Given the description of an element on the screen output the (x, y) to click on. 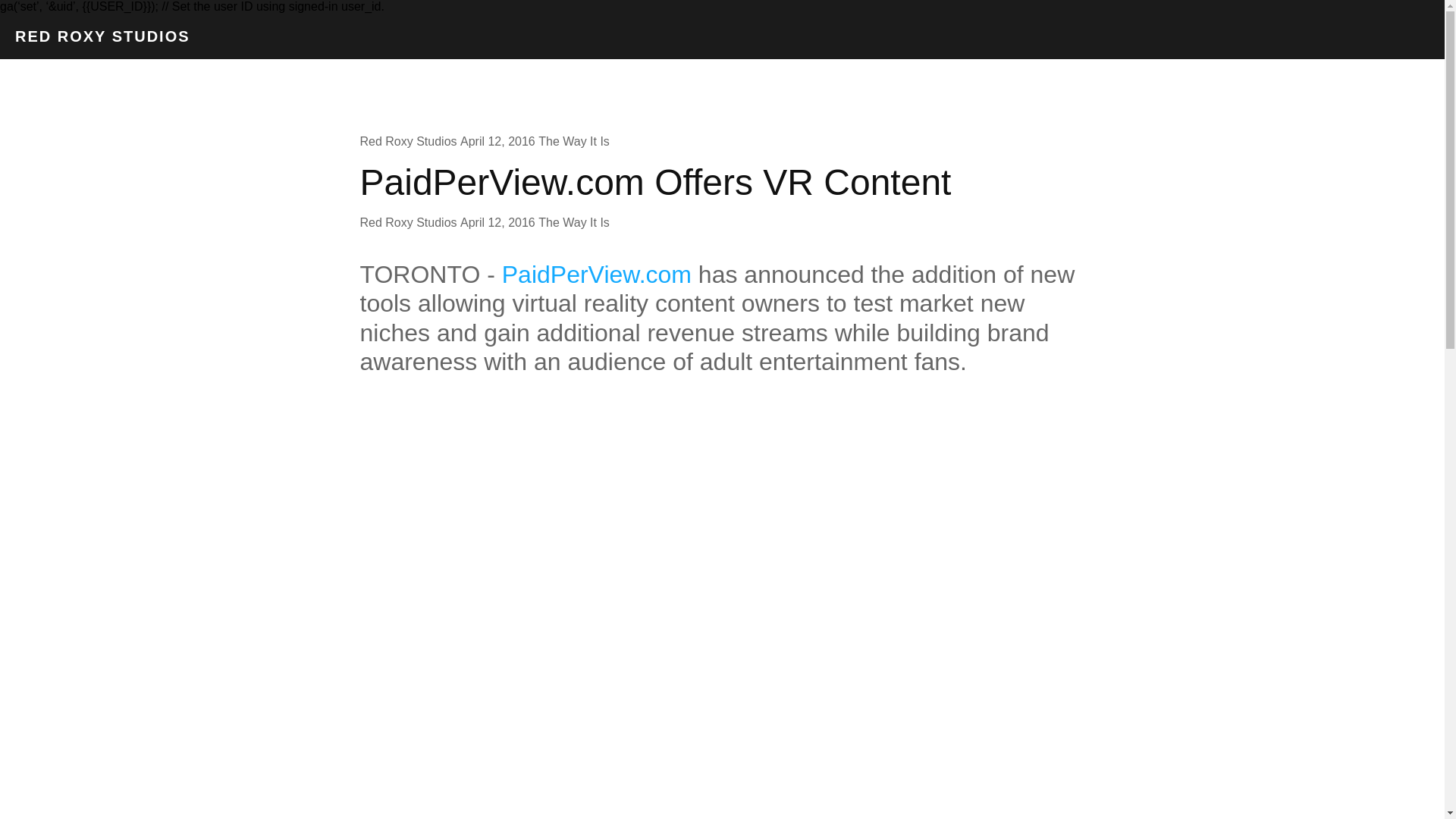
PaidPerView.com (596, 274)
Red Roxy Studios (408, 222)
The Way It Is (574, 141)
April 12, 2016 (497, 222)
April 12, 2016 (497, 141)
PaidPerView.com Offers VR Content (654, 182)
The Way It Is (574, 222)
Red Roxy Studios (408, 141)
